Given the description of an element on the screen output the (x, y) to click on. 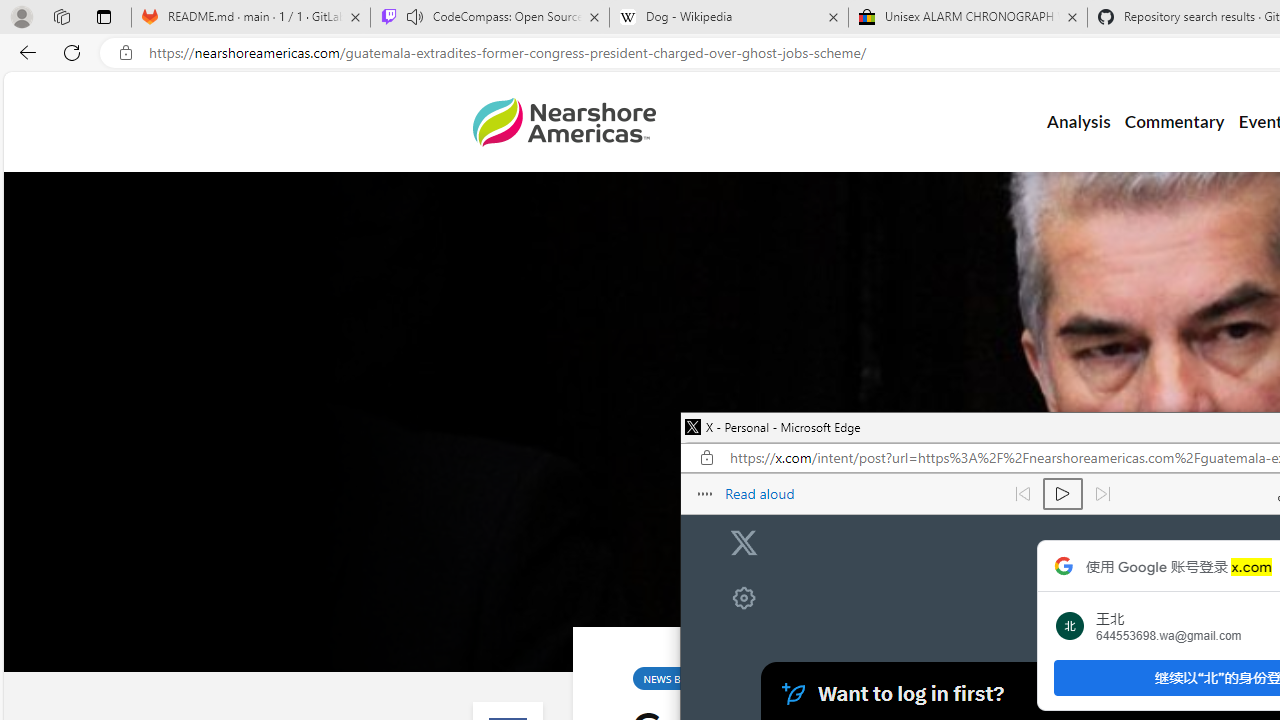
Analysis (1078, 121)
Read next paragraph (1101, 493)
Commentary (1174, 121)
Nearshore Americas (563, 121)
